Given the description of an element on the screen output the (x, y) to click on. 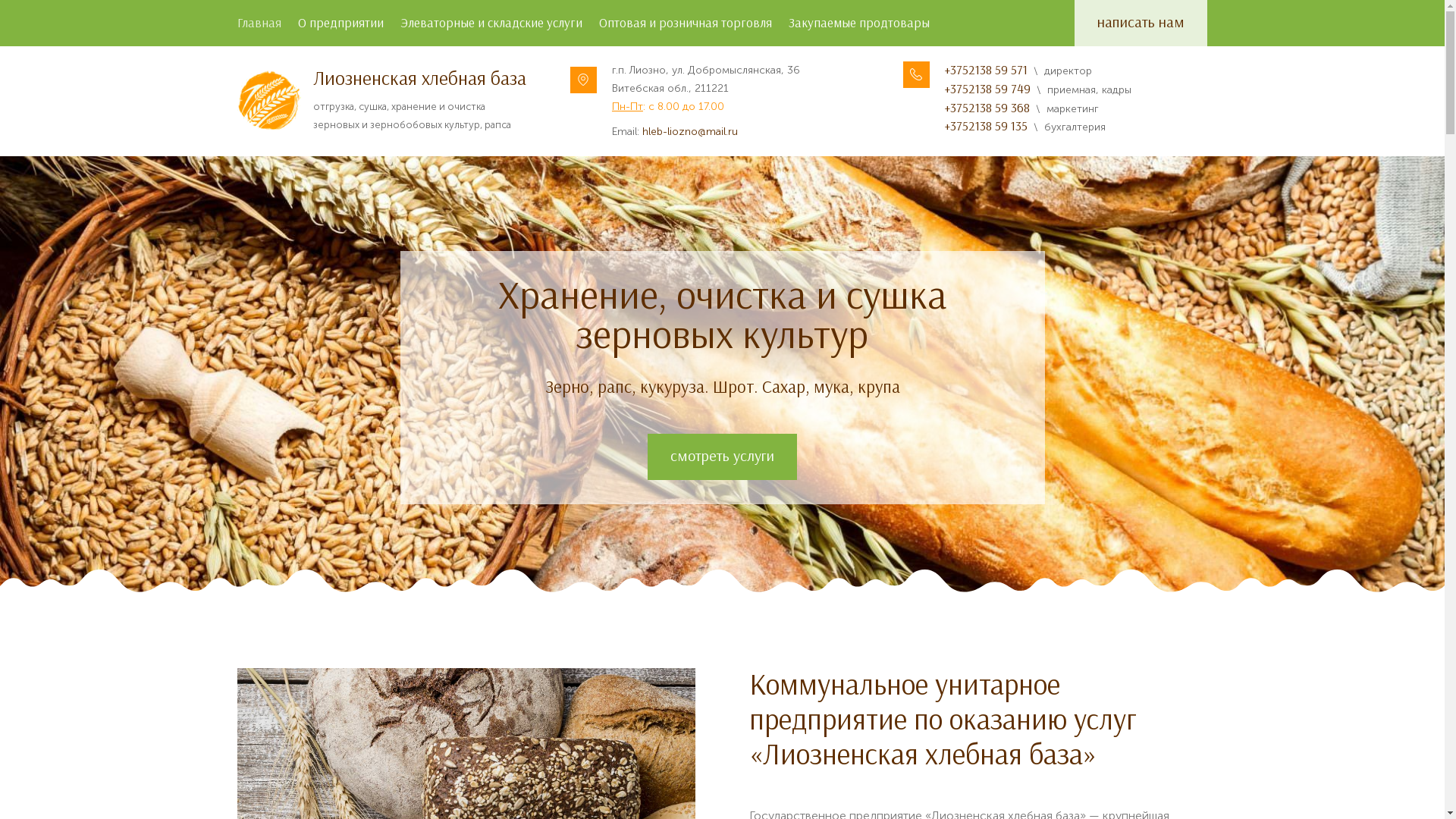
+3752138 59 571 Element type: text (985, 69)
+3752138 59 749 Element type: text (987, 88)
hleb-liozno@mail.ru Element type: text (689, 131)
+3752138 59 368 Element type: text (986, 107)
+3752138 59 135 Element type: text (985, 125)
